Given the description of an element on the screen output the (x, y) to click on. 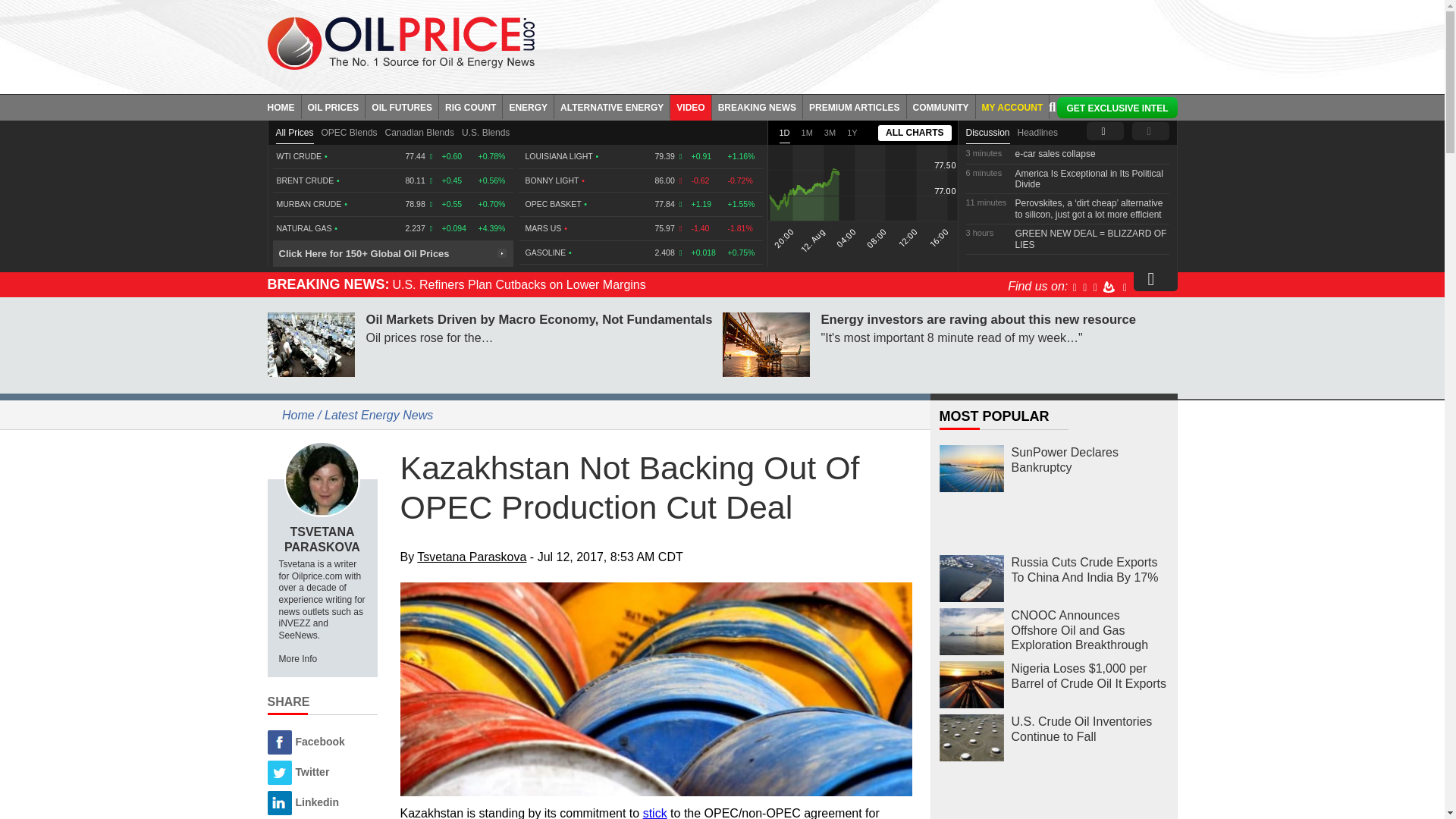
SunPower Declares Bankruptcy (971, 469)
HOME (283, 106)
COMMUNITY (941, 106)
Oil prices - Oilprice.com (400, 42)
BREAKING NEWS (757, 106)
OIL PRICES (333, 106)
Oil Markets Driven by Macro Economy, Not Fundamentals (309, 344)
ENERGY (528, 106)
OIL FUTURES (402, 106)
MY ACCOUNT (1012, 106)
